Given the description of an element on the screen output the (x, y) to click on. 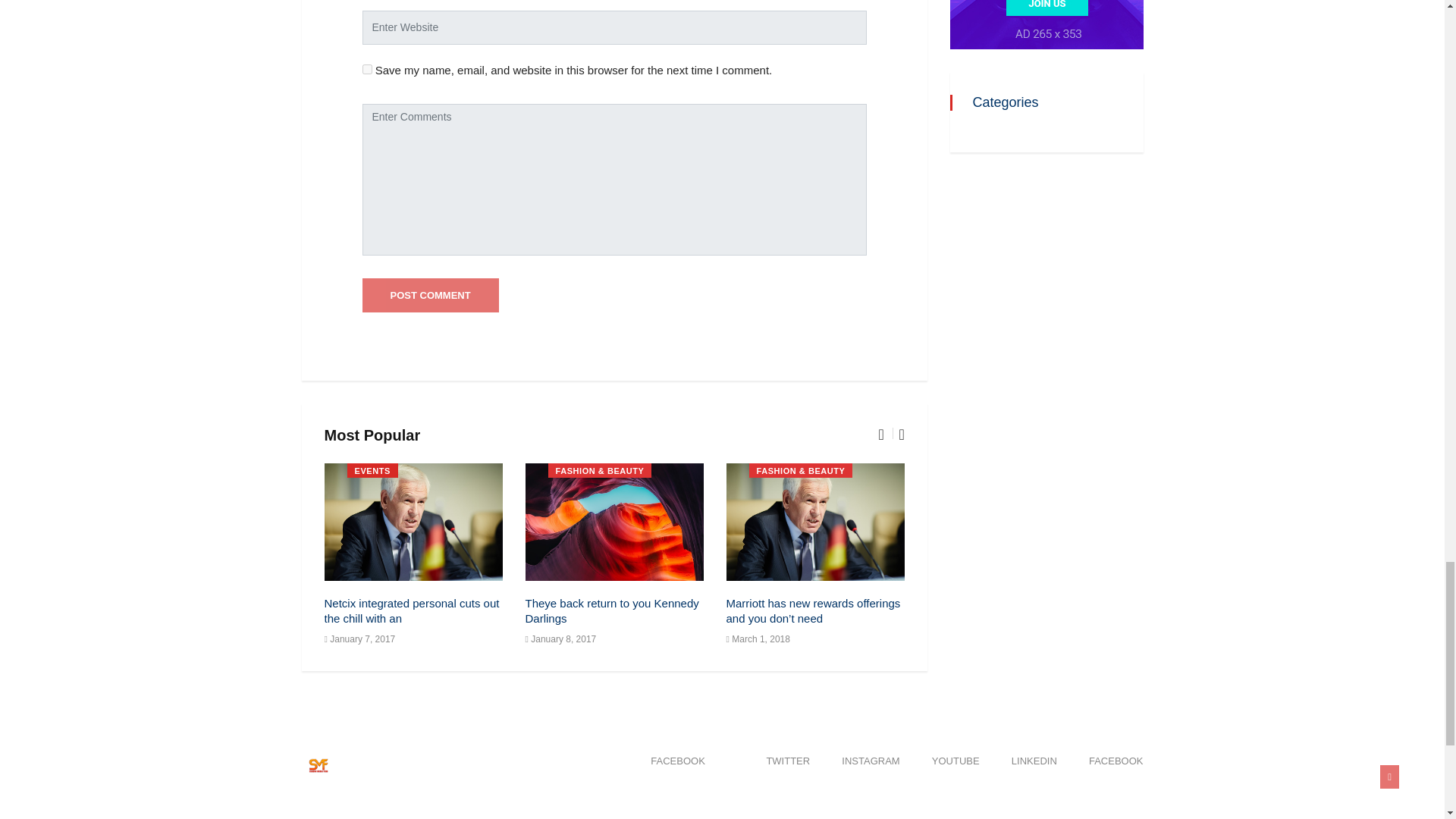
Post Comment (430, 295)
Post Comment (430, 295)
yes (367, 69)
